Given the description of an element on the screen output the (x, y) to click on. 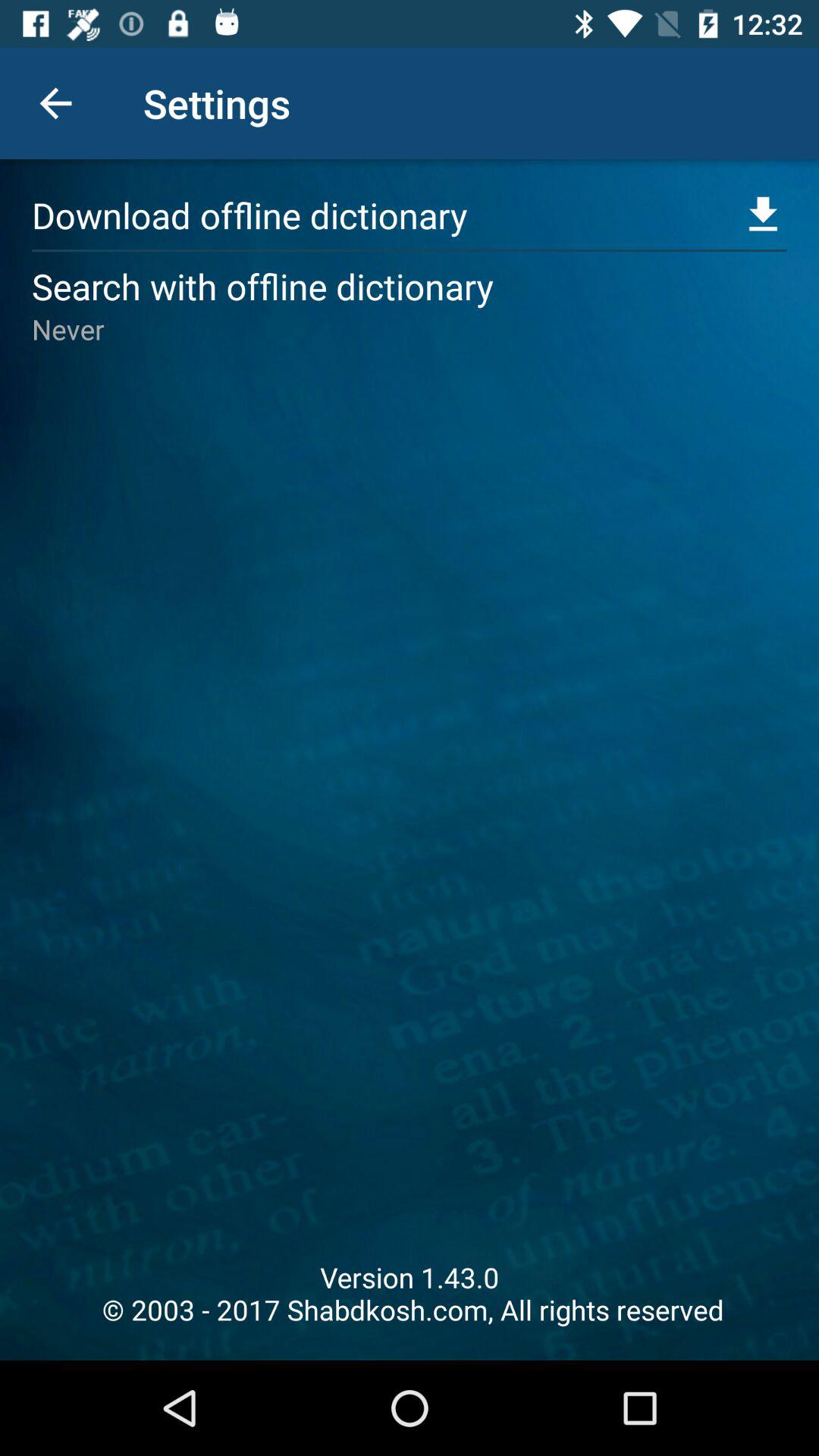
download option (763, 214)
